Given the description of an element on the screen output the (x, y) to click on. 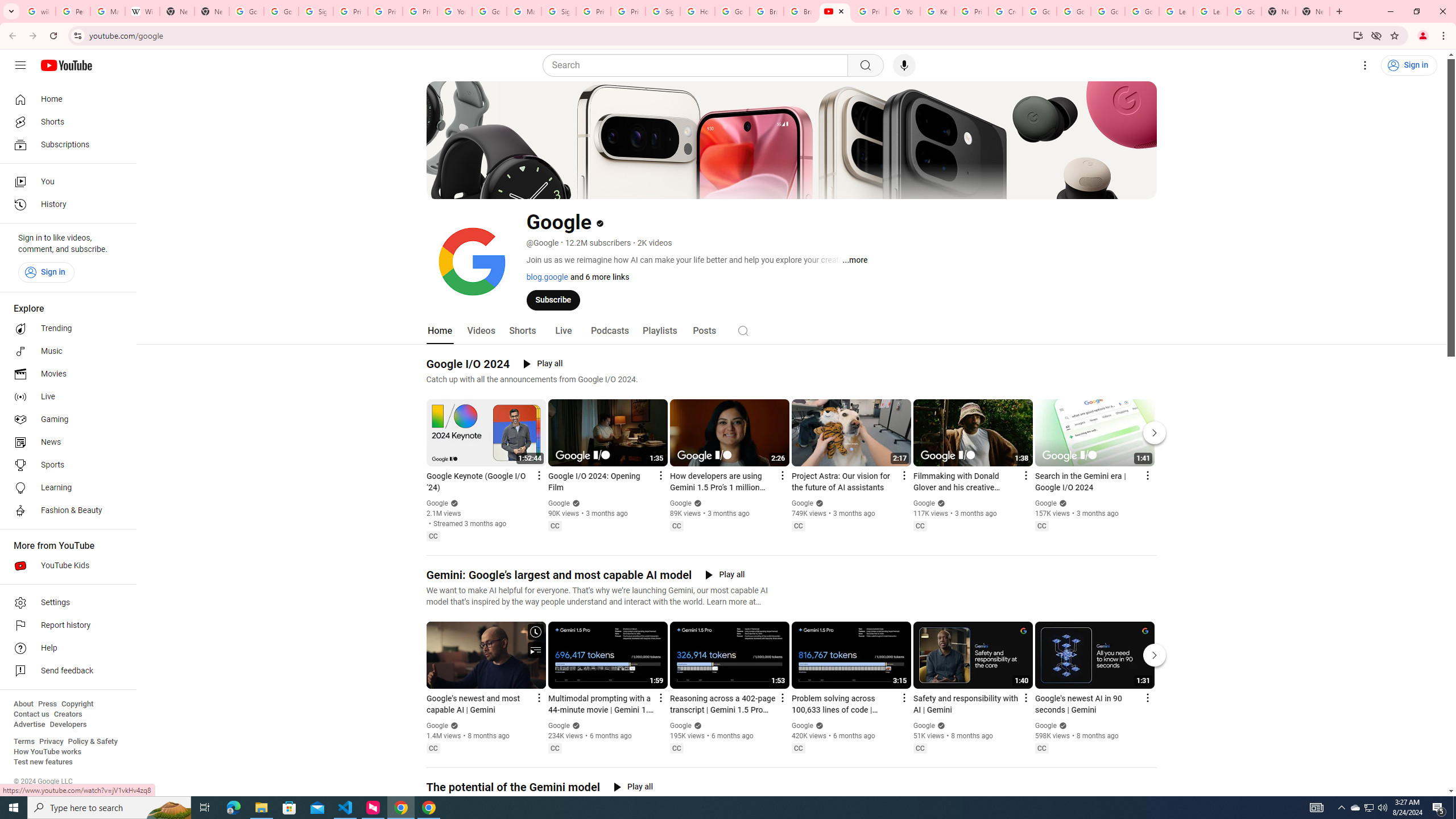
Learning (64, 487)
About (23, 703)
YouTube (903, 11)
Creators (67, 714)
